Given the description of an element on the screen output the (x, y) to click on. 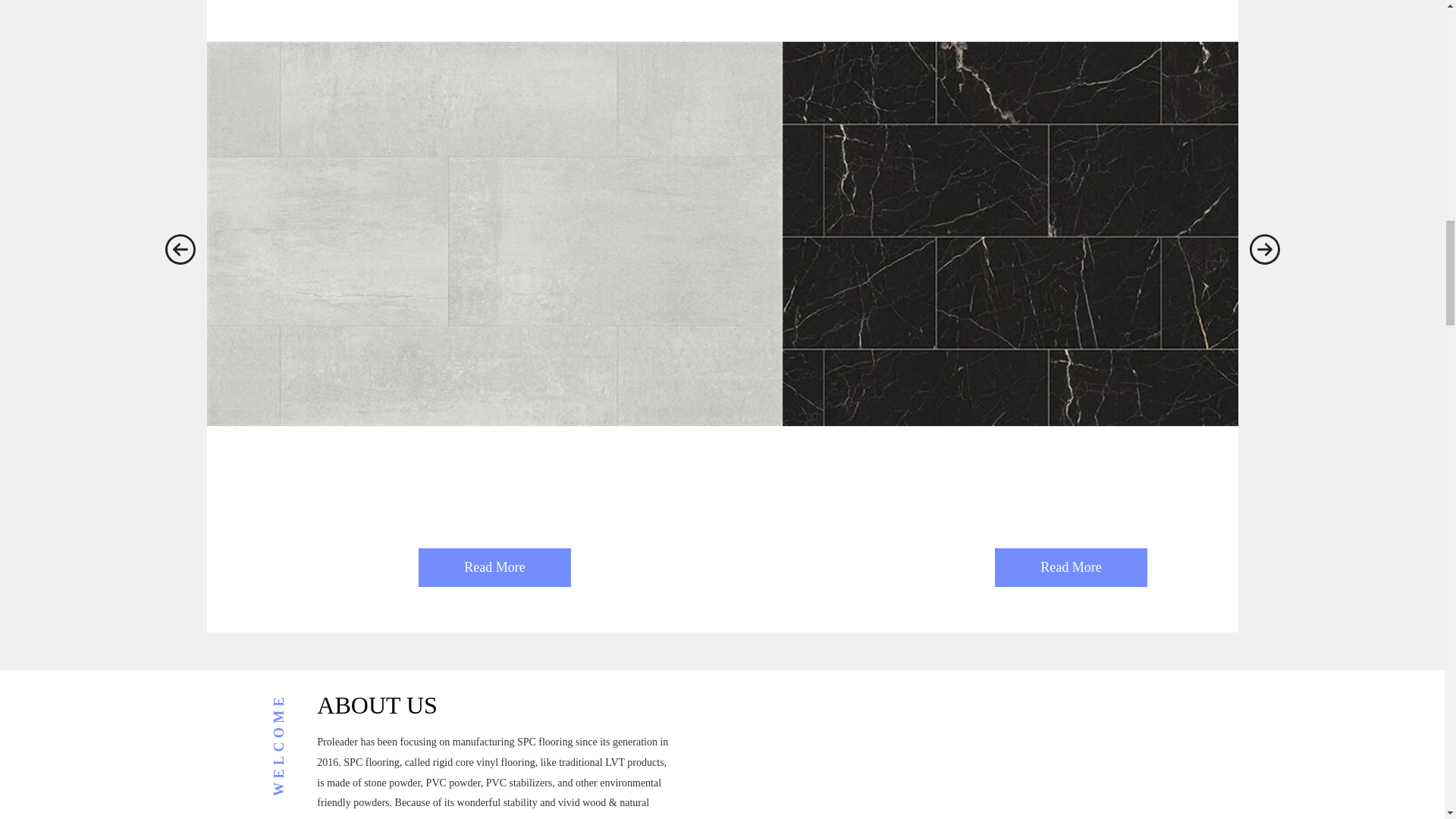
Read More (1070, 567)
Read More (494, 567)
